Given the description of an element on the screen output the (x, y) to click on. 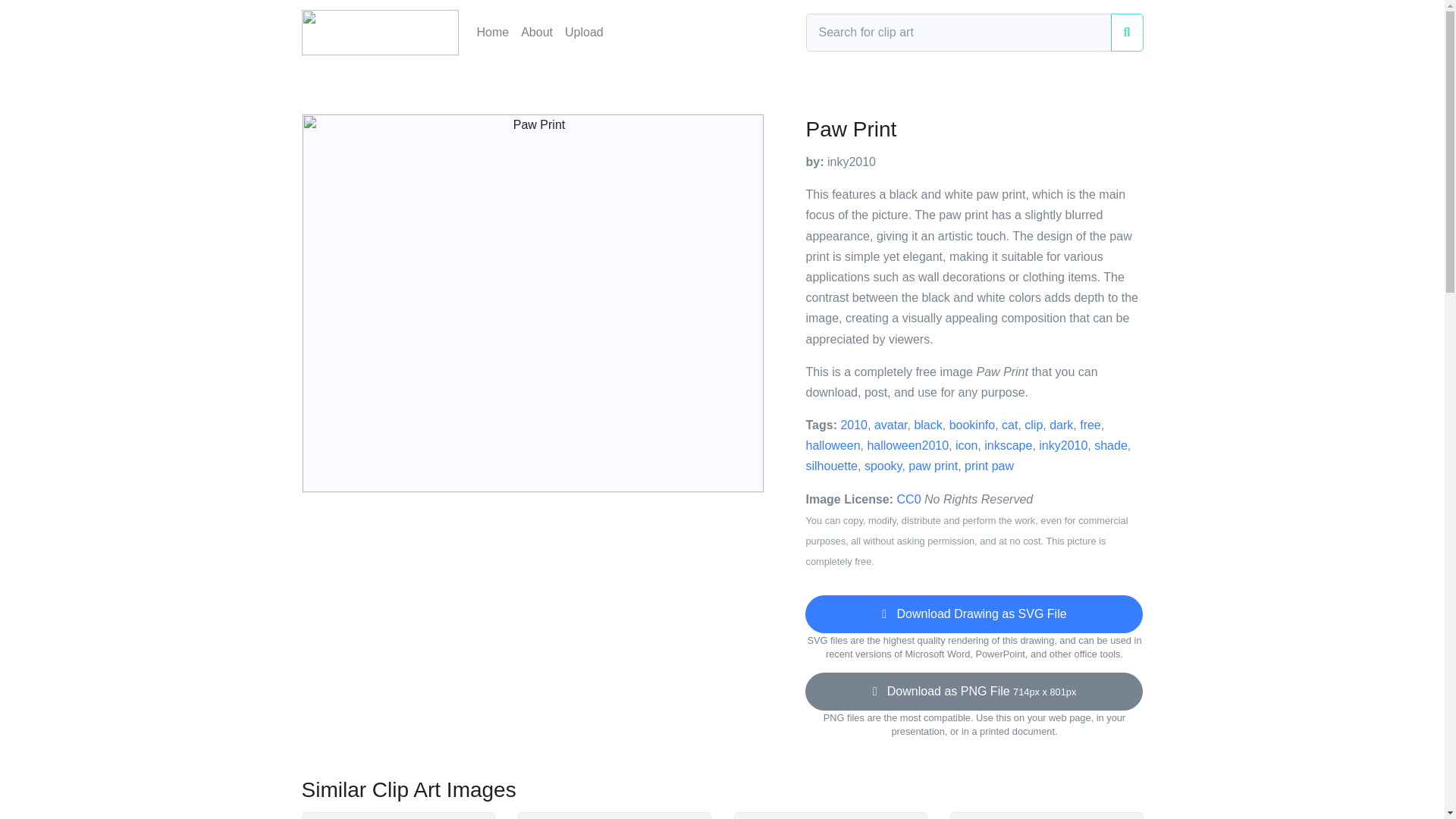
inkscape (1008, 445)
2010 (853, 424)
bookinfo (972, 424)
spooky (883, 465)
cat (1009, 424)
black (928, 424)
silhouette (831, 465)
About (537, 32)
paw print (933, 465)
